Given the description of an element on the screen output the (x, y) to click on. 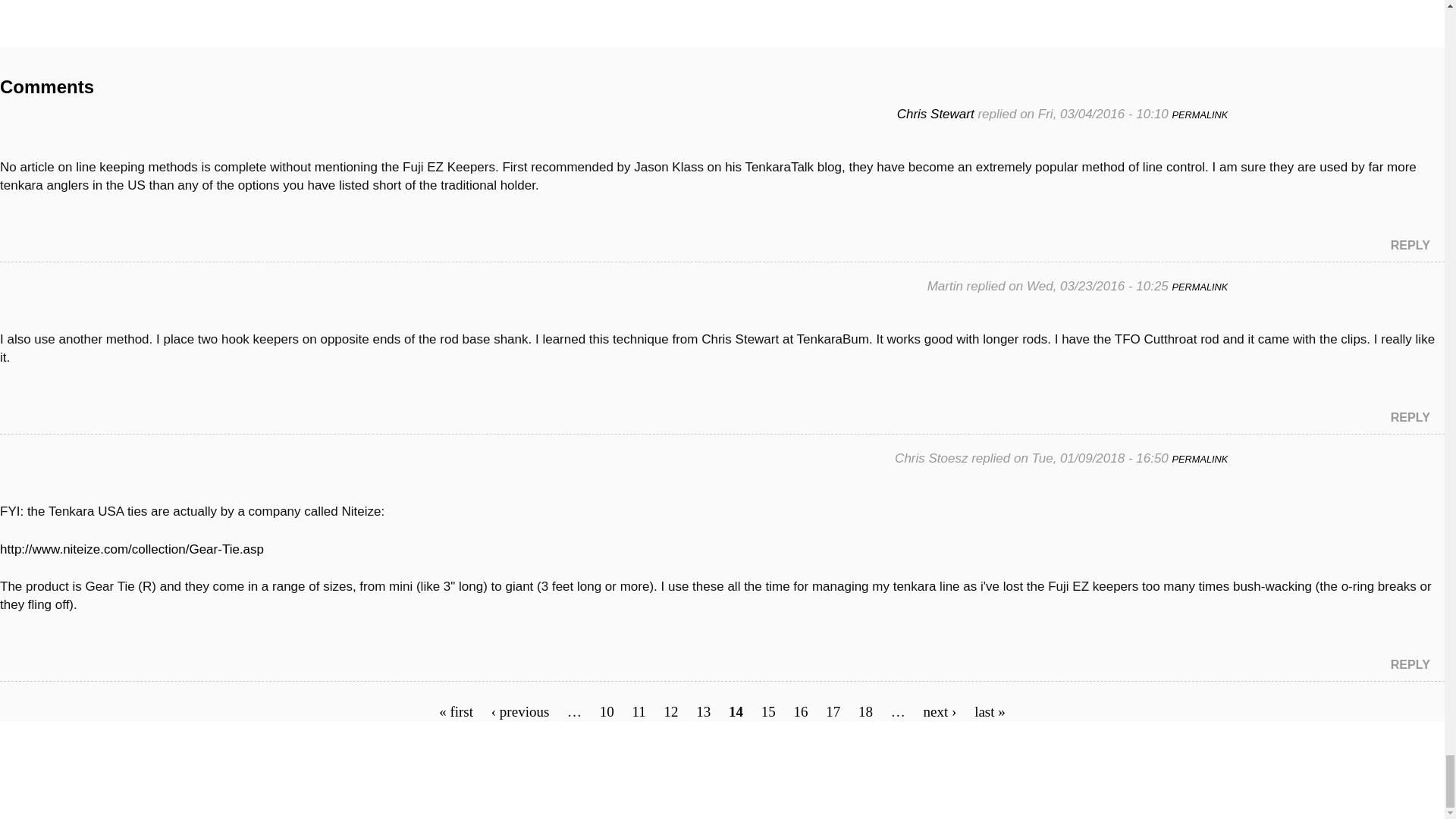
ADD NEW COMMENT (50, 37)
Go to page 15 (768, 711)
15 (768, 711)
Go to page 13 (702, 711)
16 (800, 711)
11 (638, 711)
PERMALINK (1200, 114)
Go to page 18 (865, 711)
Go to page 17 (832, 711)
REPLY (1409, 244)
12 (670, 711)
REPLY (1409, 417)
Go to page 12 (670, 711)
PERMALINK (1200, 286)
18 (865, 711)
